Given the description of an element on the screen output the (x, y) to click on. 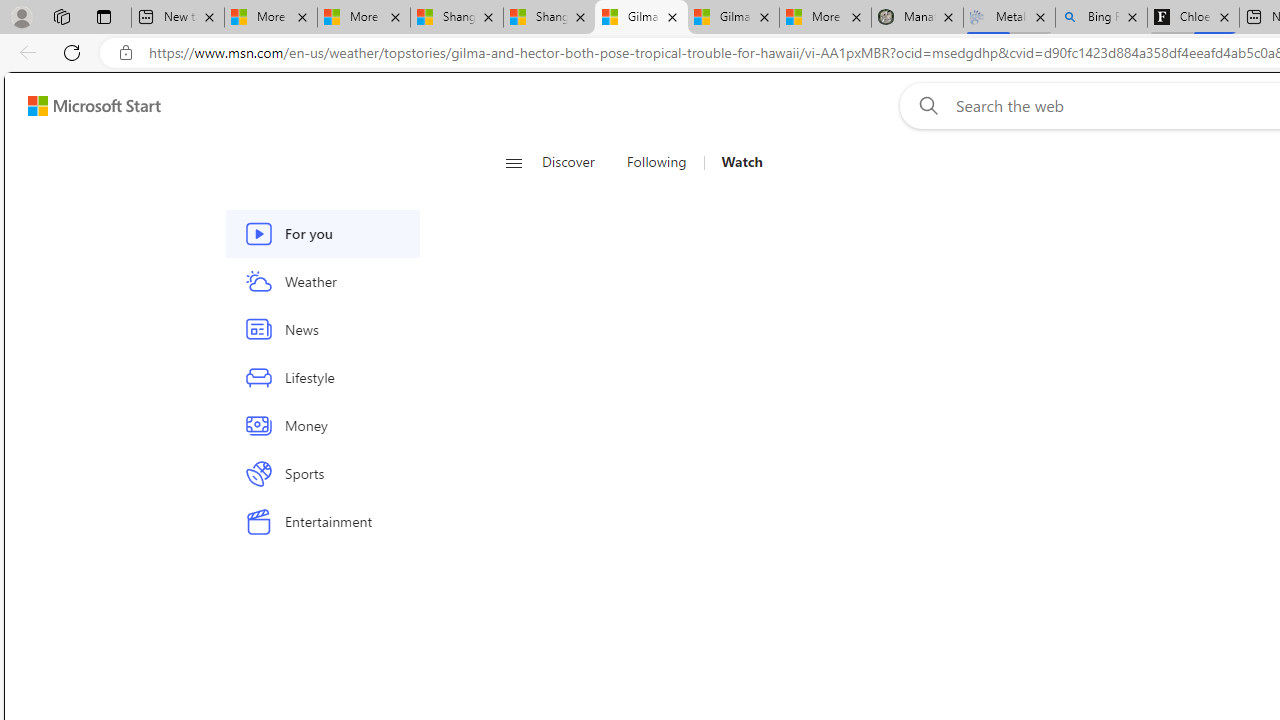
Discover (575, 162)
Watch (742, 162)
Following (658, 162)
Bing Real Estate - Home sales and rental listings (1101, 17)
Class: button-glyph (513, 162)
Watch (734, 162)
Skip to footer (82, 105)
